Given the description of an element on the screen output the (x, y) to click on. 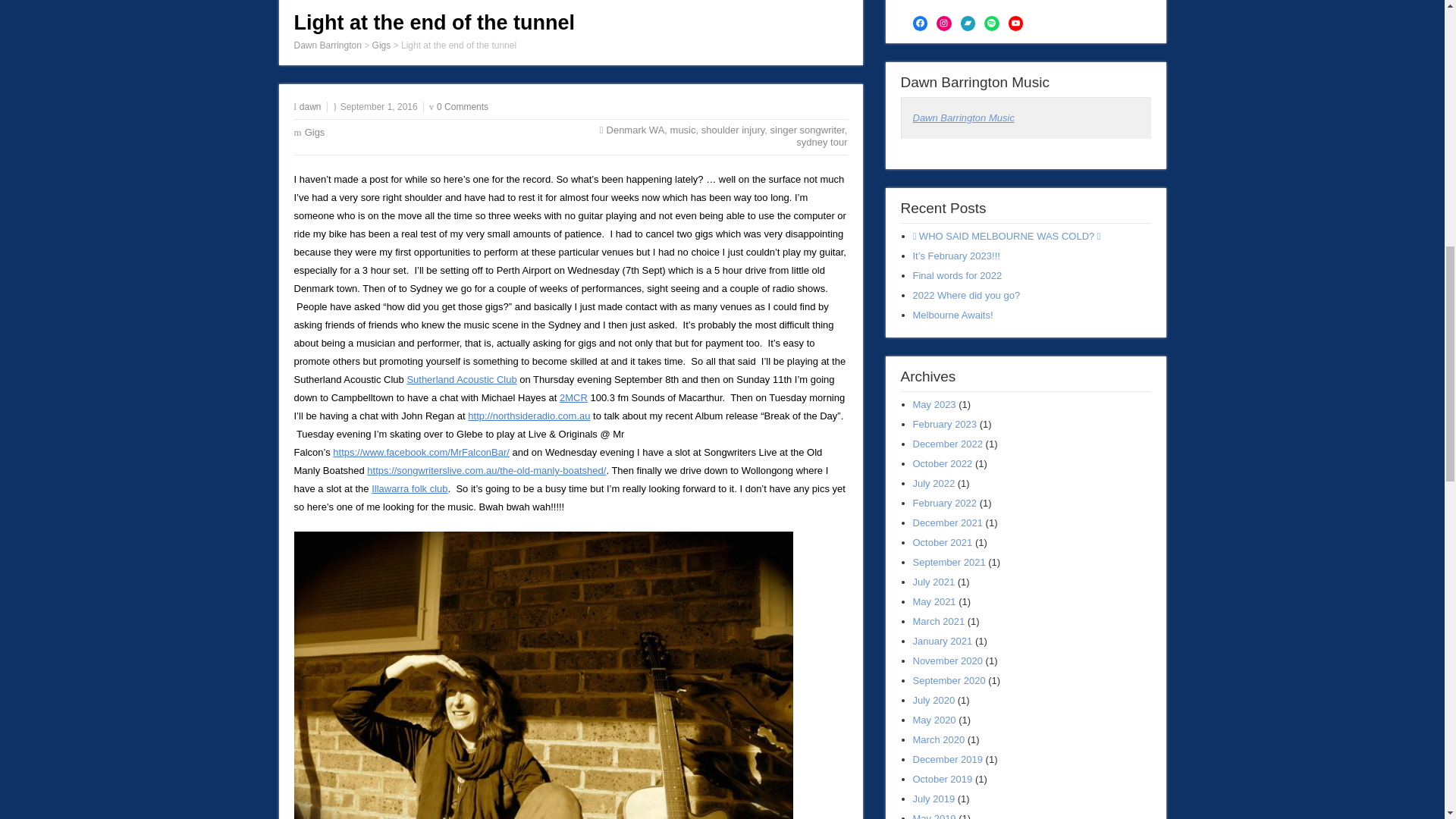
Posts by dawn (310, 106)
Go to the Gigs Category archives. (381, 45)
Go to Dawn Barrington. (327, 45)
